Given the description of an element on the screen output the (x, y) to click on. 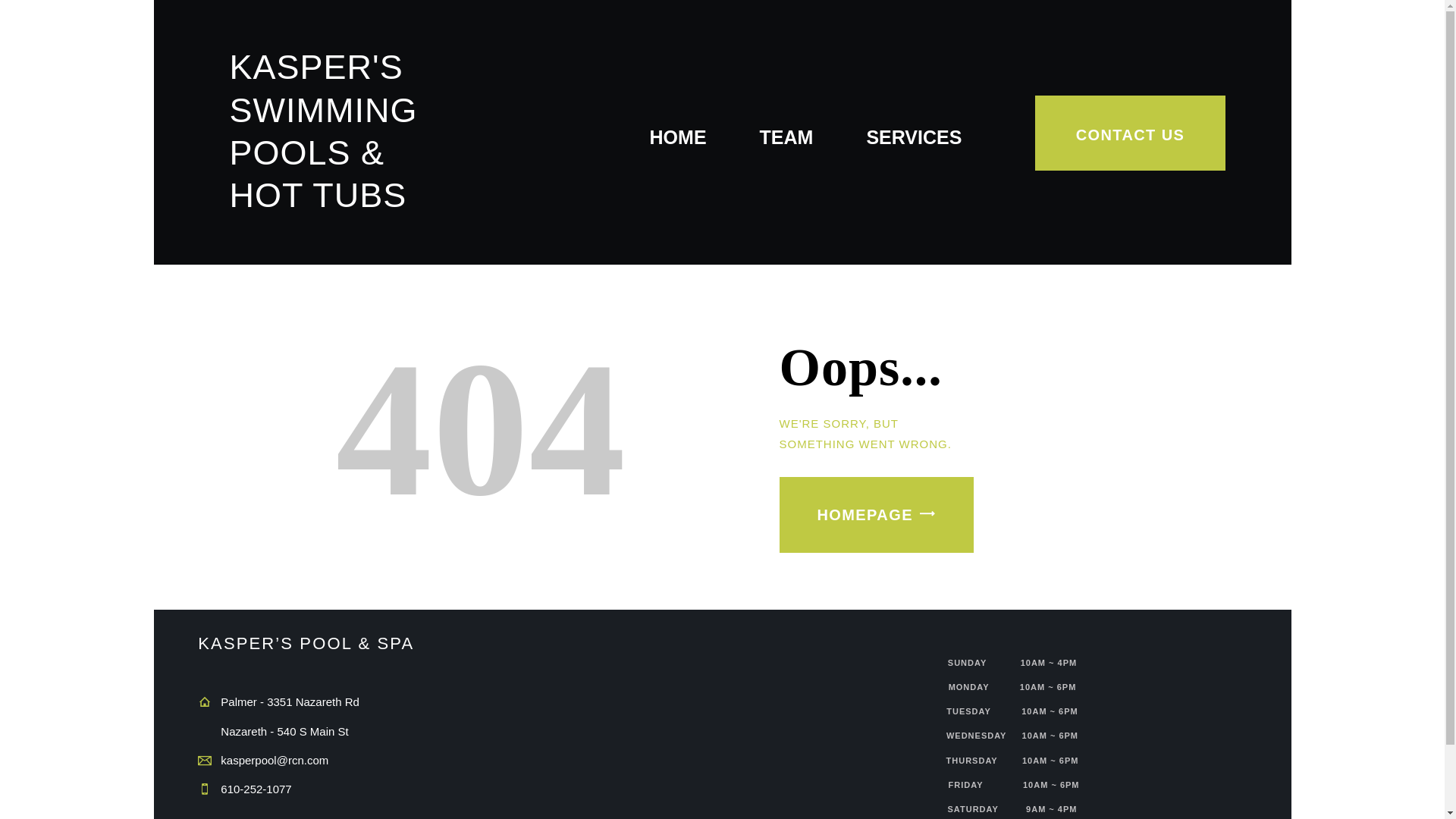
TEAM (786, 138)
SERVICES (913, 138)
CONTACT US (1130, 132)
HOMEPAGE (876, 514)
HOME (677, 138)
610-252-1077 (256, 788)
